Given the description of an element on the screen output the (x, y) to click on. 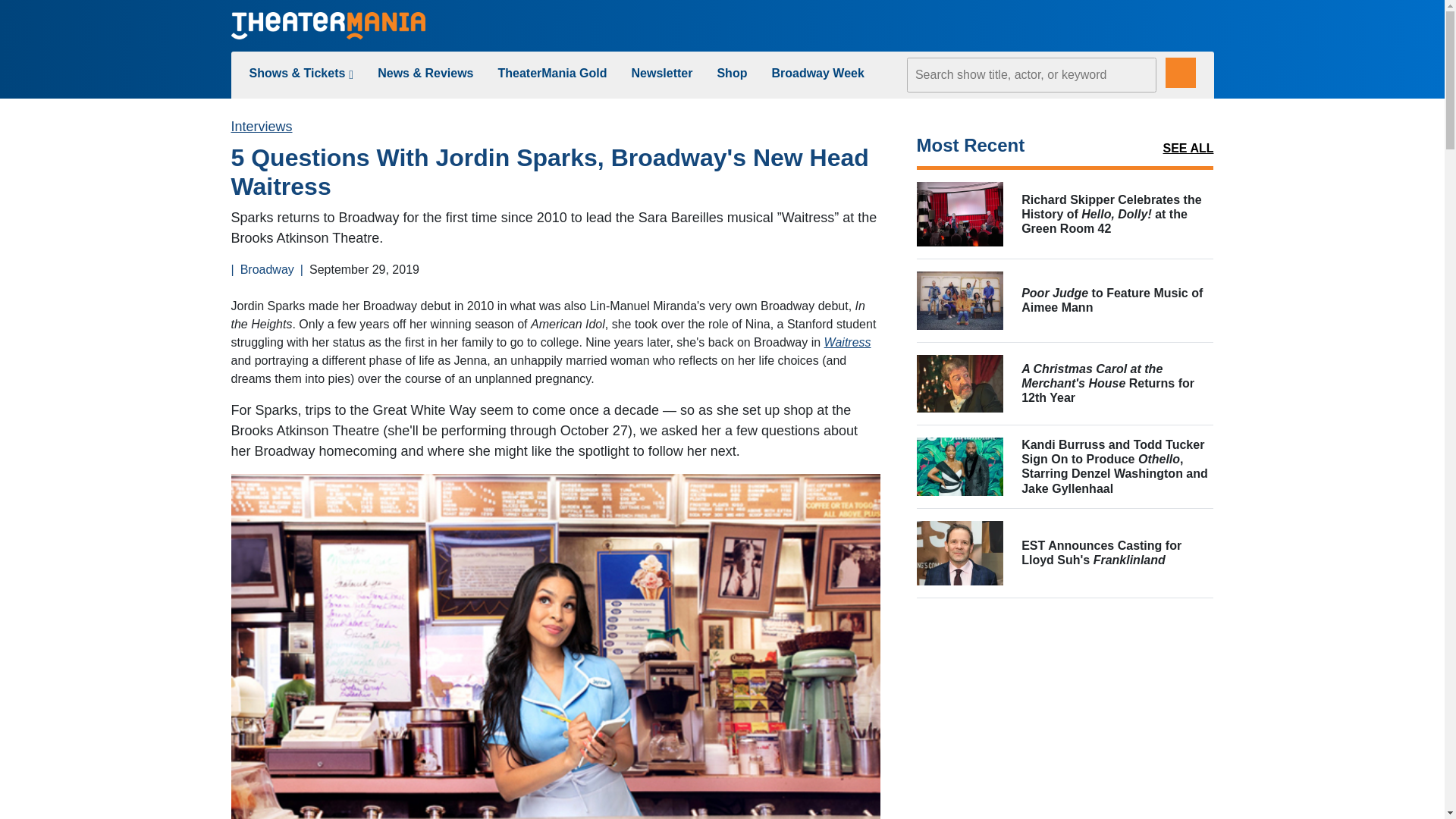
Broadway Week (817, 72)
new-and-reviews-link (425, 72)
Newsletter (662, 72)
TheaterMania Gold (552, 72)
Shop (731, 72)
